Given the description of an element on the screen output the (x, y) to click on. 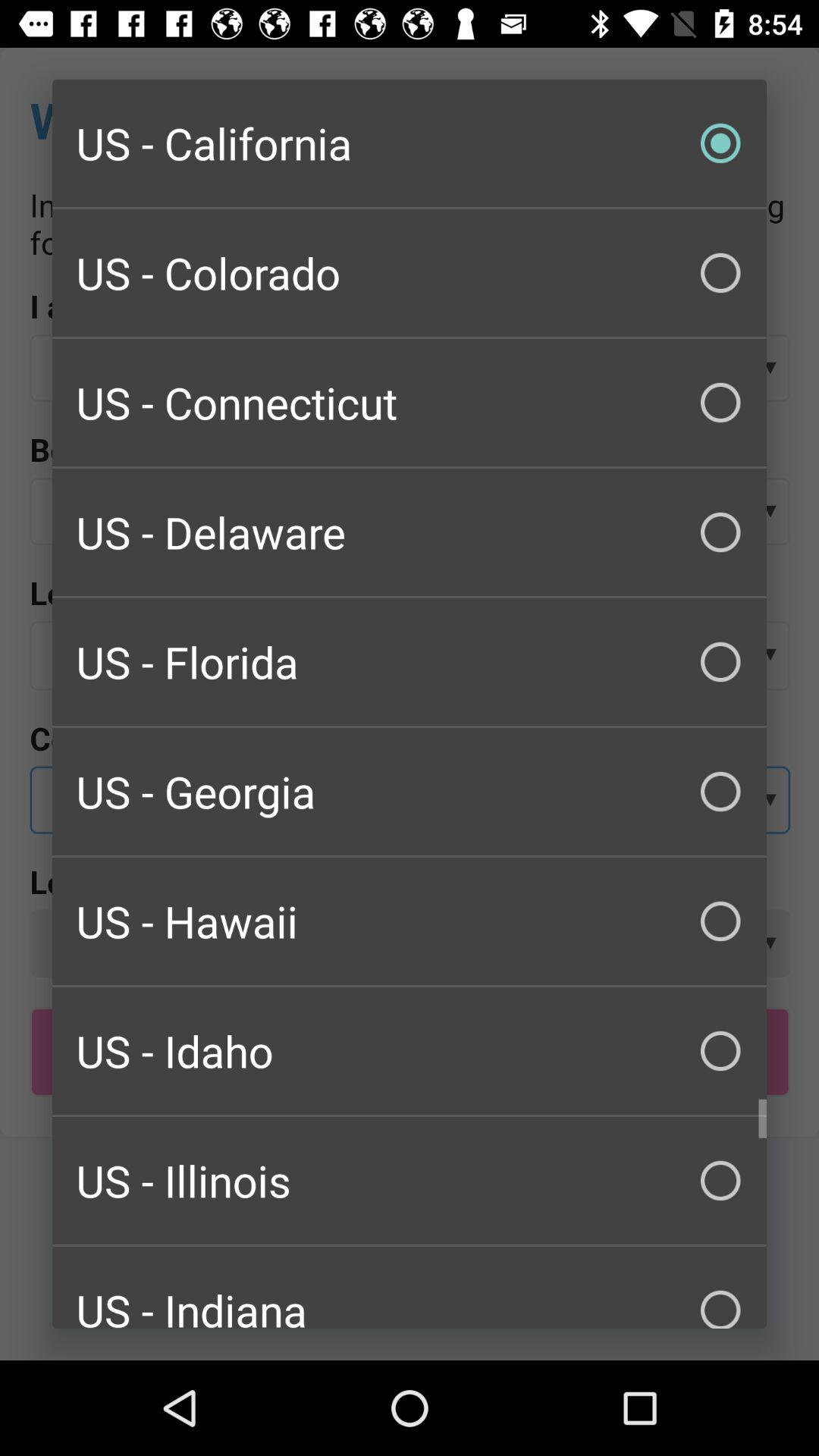
scroll until us - illinois (409, 1180)
